Given the description of an element on the screen output the (x, y) to click on. 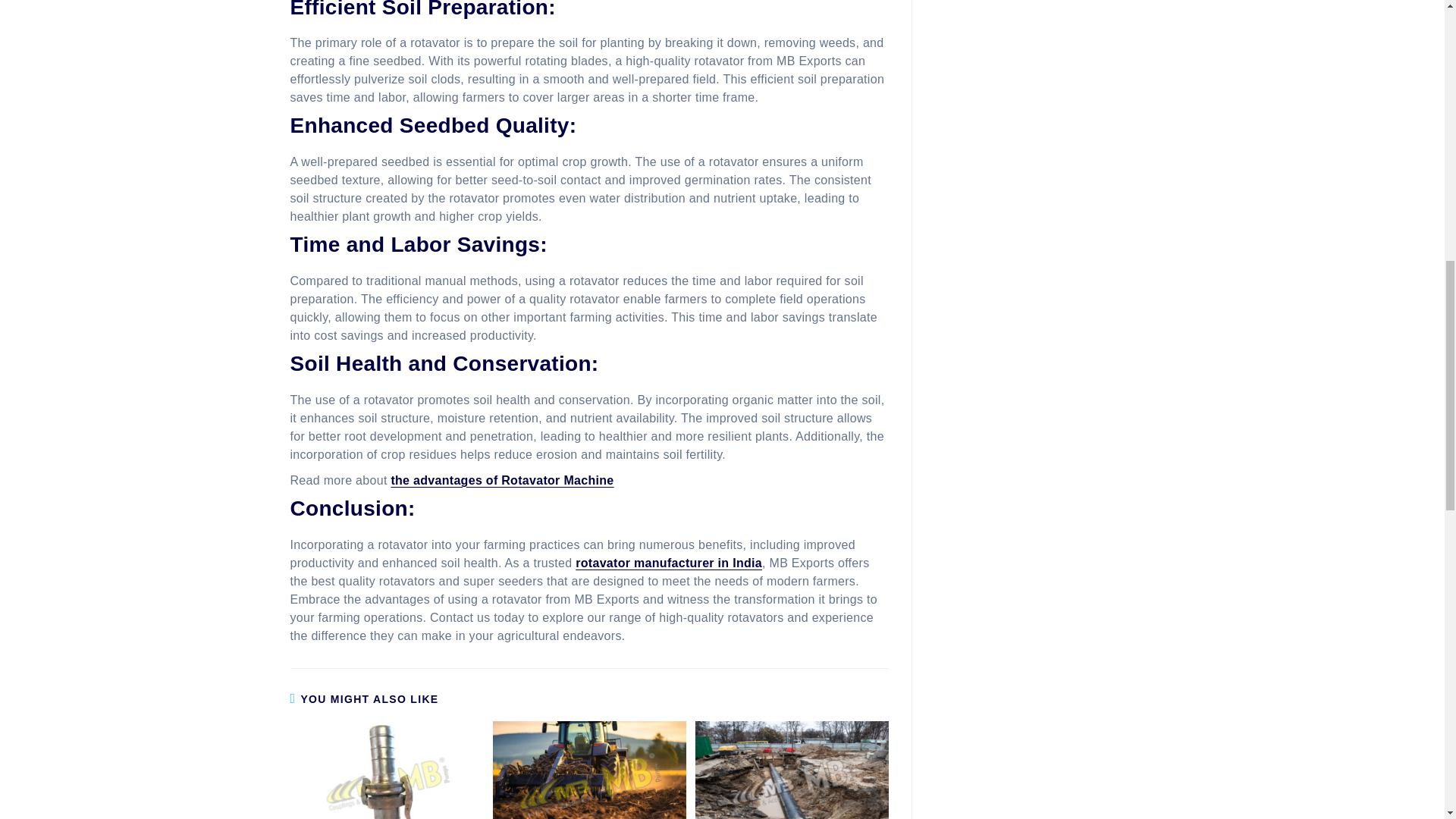
rotavator manufacturer in India (668, 562)
the advantages of Rotavator Machine (501, 480)
